Given the description of an element on the screen output the (x, y) to click on. 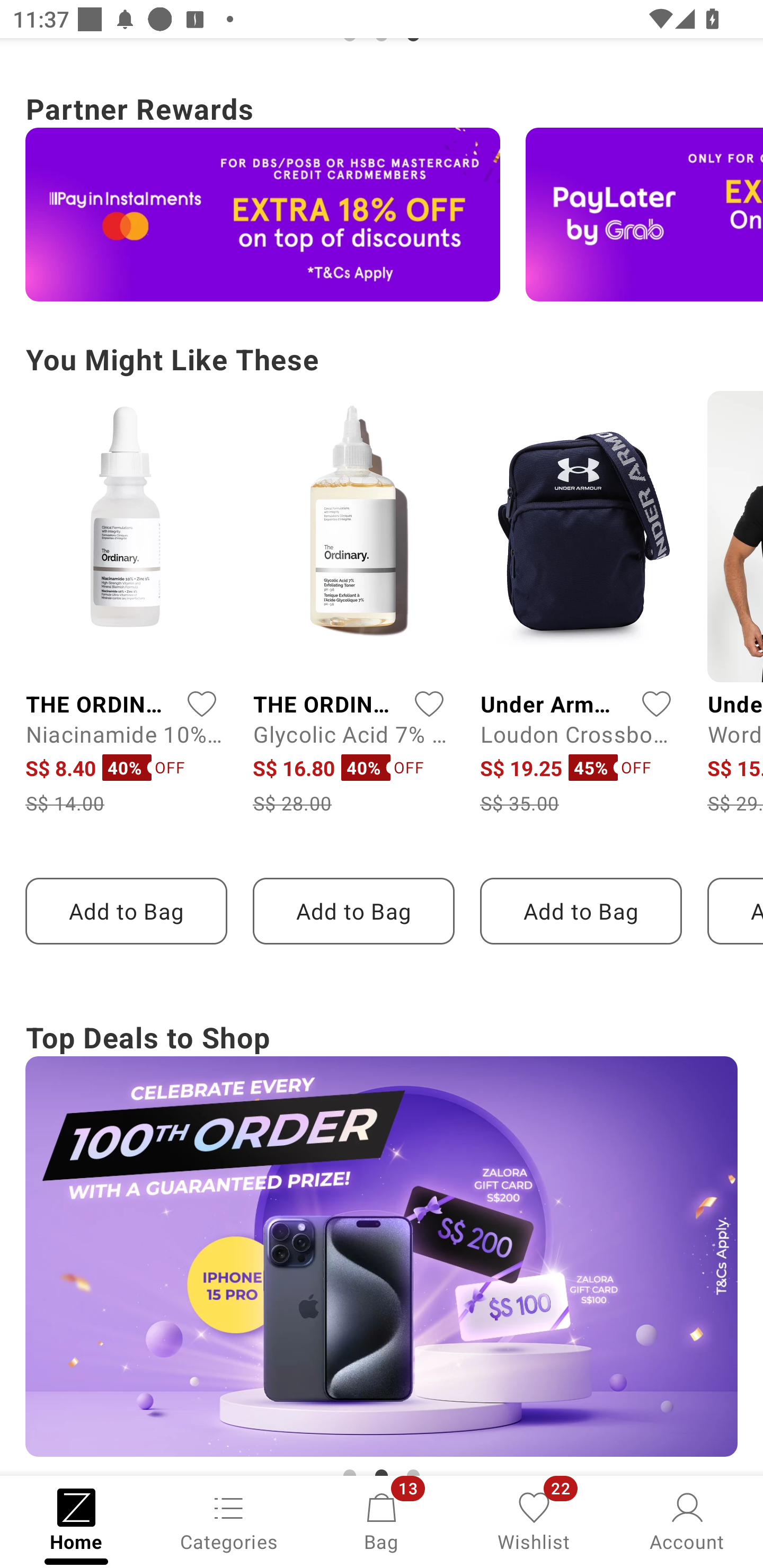
Partner Rewards Campaign banner Campaign banner (381, 193)
Campaign banner (262, 214)
Add to Bag (126, 910)
Add to Bag (353, 910)
Add to Bag (580, 910)
Top Deals to Shop Campaign banner (381, 1244)
Campaign banner (381, 1256)
Categories (228, 1519)
Bag, 13 new notifications Bag (381, 1519)
Wishlist, 22 new notifications Wishlist (533, 1519)
Account (686, 1519)
